Given the description of an element on the screen output the (x, y) to click on. 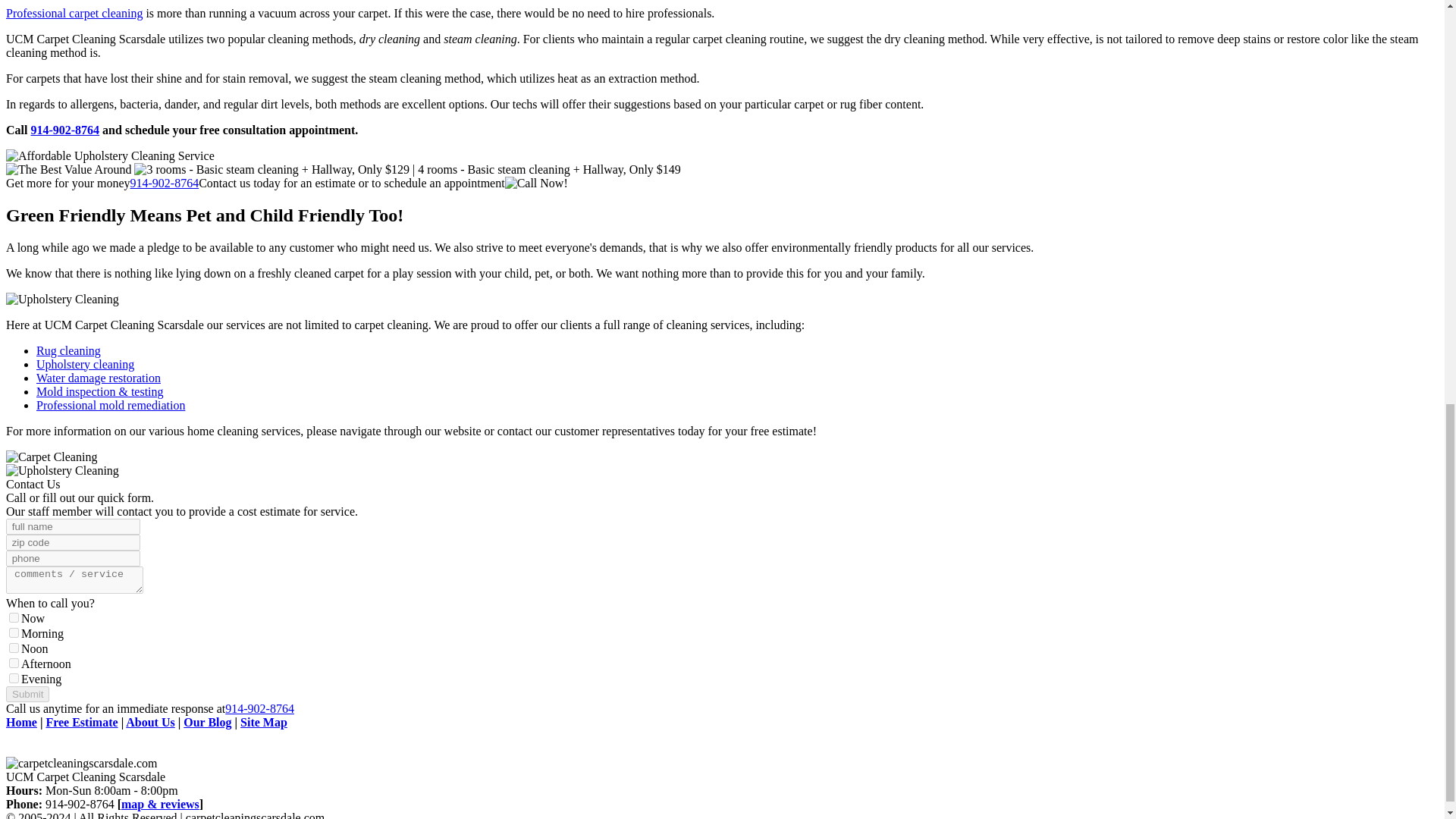
Submit (27, 693)
914-902-8764 (259, 707)
Home (21, 721)
Call Now! (536, 183)
Water damage restoration (98, 377)
morning (13, 633)
Upholstery cleaning (84, 364)
Mold Remediation Scarsdale (110, 404)
Free Estimate (81, 721)
now (13, 617)
914-902-8764 (165, 182)
Upholstery Cleaning (62, 299)
Professional mold remediation (110, 404)
The Best Value Around (68, 169)
914-902-8764 (64, 129)
